Given the description of an element on the screen output the (x, y) to click on. 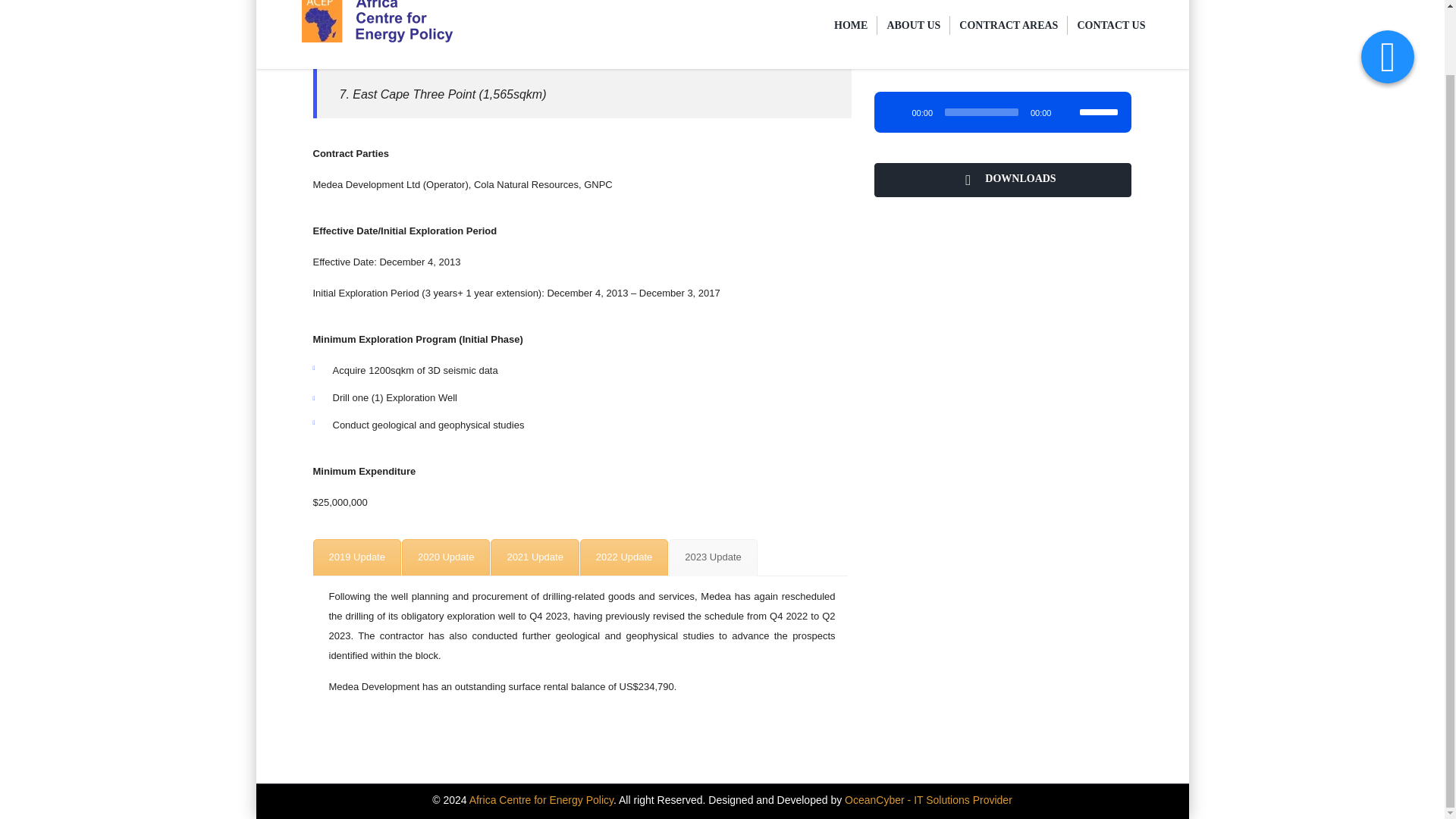
OceanCyber - IT Solutions Provider (927, 799)
Africa Centre for Energy Policy (540, 799)
Play (894, 111)
2022 Update (623, 557)
CONTRACT AREAS (1008, 24)
Mute (1067, 111)
DOWNLOADS (1002, 179)
2021 Update (534, 557)
ABOUT US (913, 24)
HOME (850, 24)
CONTACT US (1110, 24)
2023 Update (712, 557)
2020 Update (445, 557)
2019 Update (356, 557)
